Given the description of an element on the screen output the (x, y) to click on. 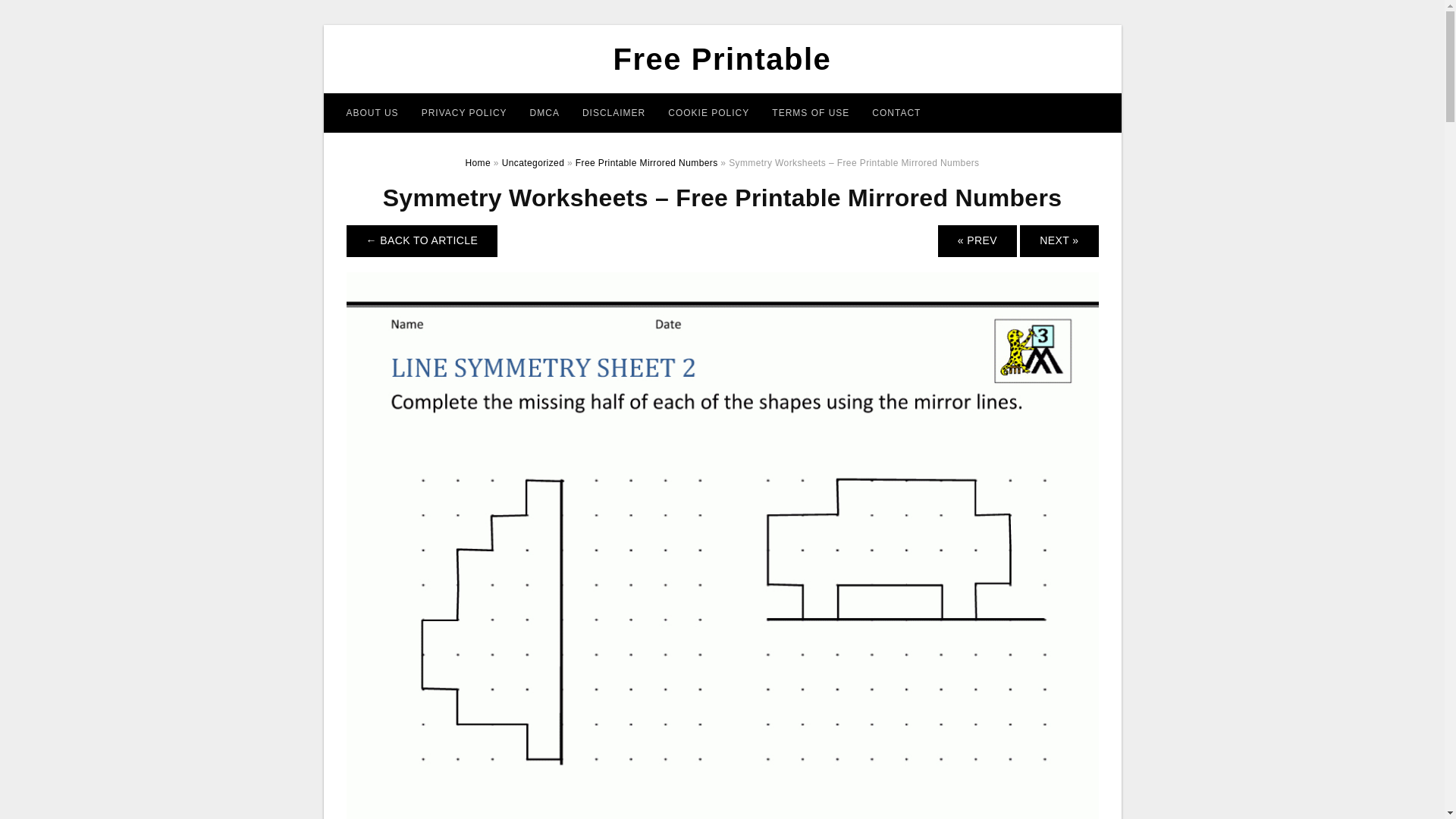
Home (477, 163)
Free Printable Mirrored Numbers (646, 163)
CONTACT (895, 112)
TERMS OF USE (810, 112)
Return to Free Printable Mirrored Numbers (421, 240)
PRIVACY POLICY (464, 112)
DISCLAIMER (613, 112)
DMCA (544, 112)
ABOUT US (372, 112)
